Given the description of an element on the screen output the (x, y) to click on. 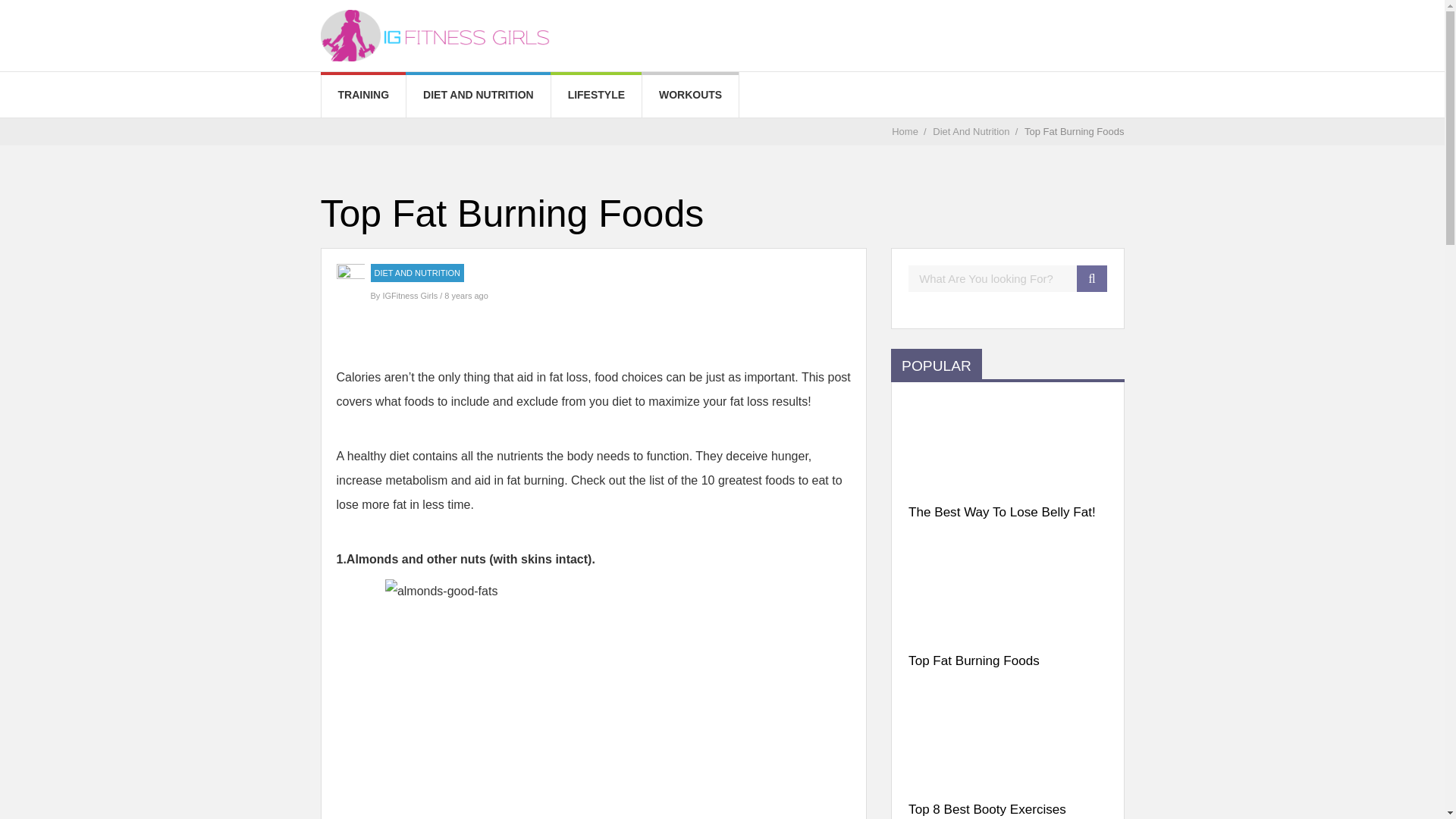
IGFitness Girls (410, 295)
Top 8 Best Booty Exercises (1007, 808)
WORKOUTS (690, 94)
The Best Way To Lose Belly Fat! (1007, 512)
DIET AND NUTRITION (417, 272)
DIET AND NUTRITION (478, 94)
TRAINING (363, 94)
LIFESTYLE (596, 94)
Top Fat Burning Foods (1007, 661)
